Given the description of an element on the screen output the (x, y) to click on. 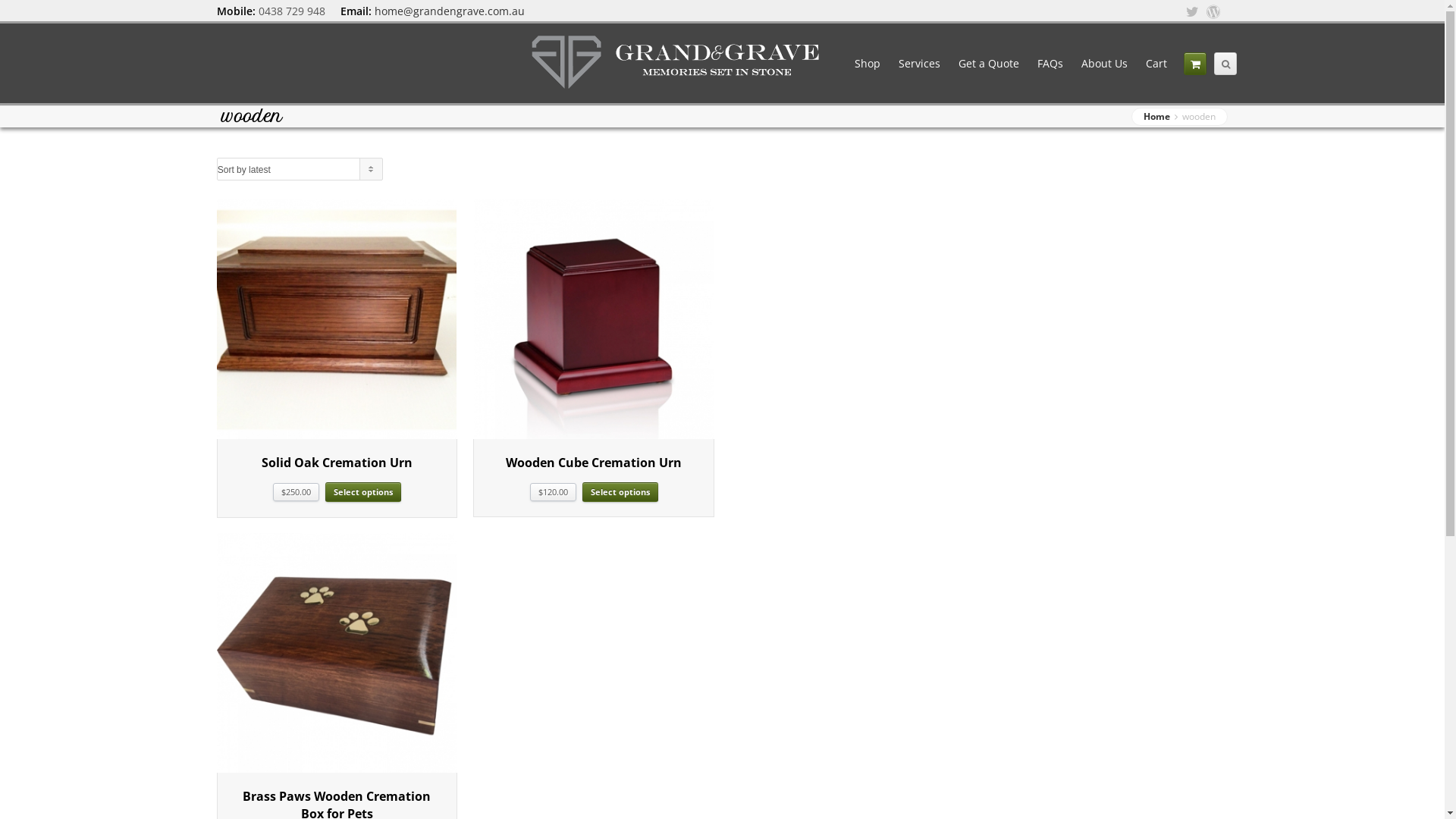
home@grandengrave.com.au Element type: text (449, 10)
Solid Oak Cremation Urn Element type: text (336, 462)
Select options Element type: text (363, 492)
Select options Element type: text (620, 492)
Get a Quote Element type: text (988, 62)
Home Element type: text (1157, 115)
Services Element type: text (919, 62)
Solid Oak Cremation Urn Element type: hover (336, 319)
Grand and Grave Element type: hover (676, 63)
Brass Paws Wooden Cremation Box for Pets Element type: hover (336, 652)
Wooden Cube Cremation Urn Element type: text (593, 462)
About Us Element type: text (1104, 62)
Your Cart Element type: hover (1194, 62)
Cart Element type: text (1156, 62)
FAQs Element type: text (1050, 62)
Shop Element type: text (867, 62)
Wooden Cube Cremation Urn Element type: hover (593, 319)
